Given the description of an element on the screen output the (x, y) to click on. 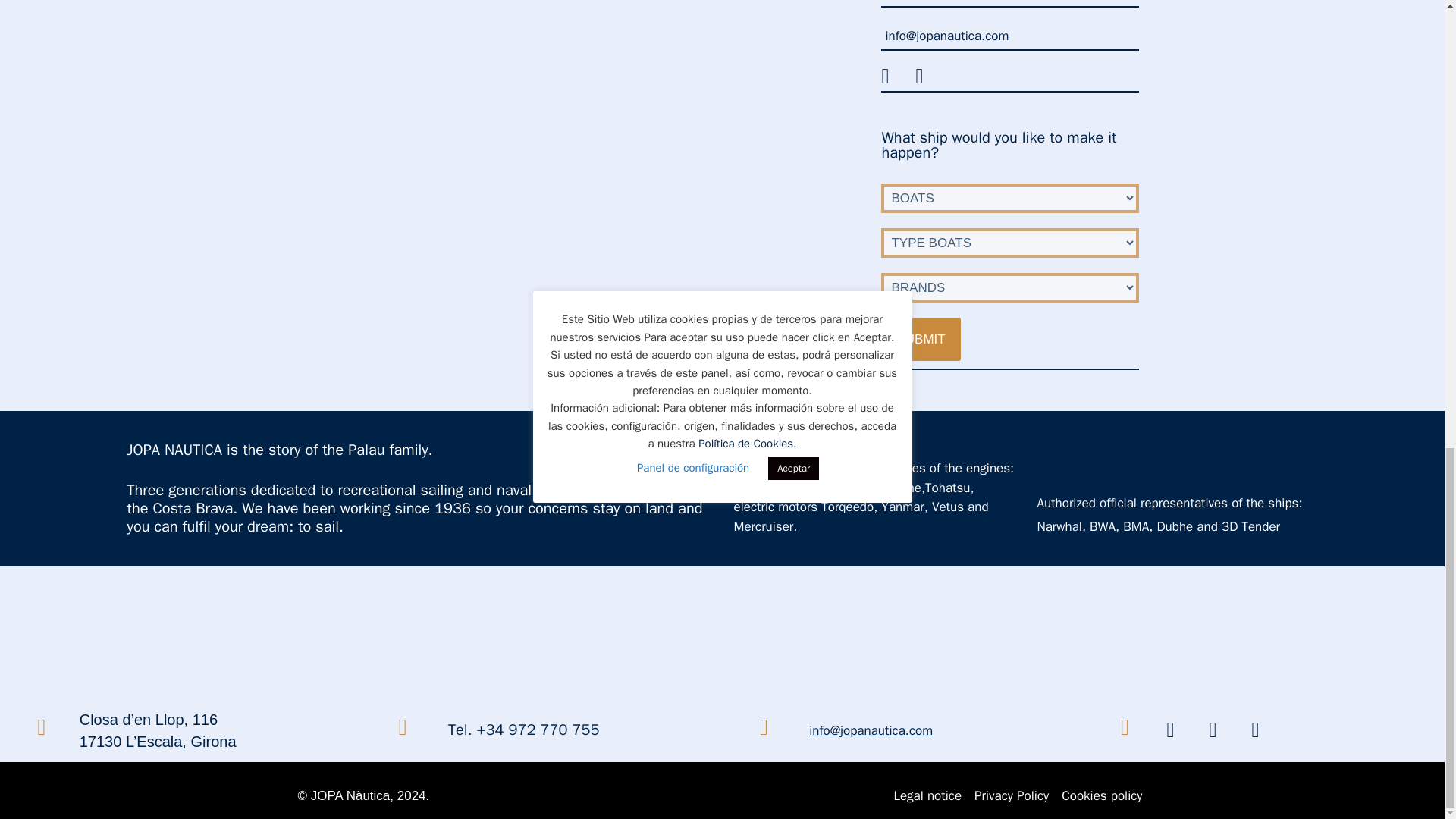
Scroll back to top (1406, 544)
Submit (919, 339)
